Given the description of an element on the screen output the (x, y) to click on. 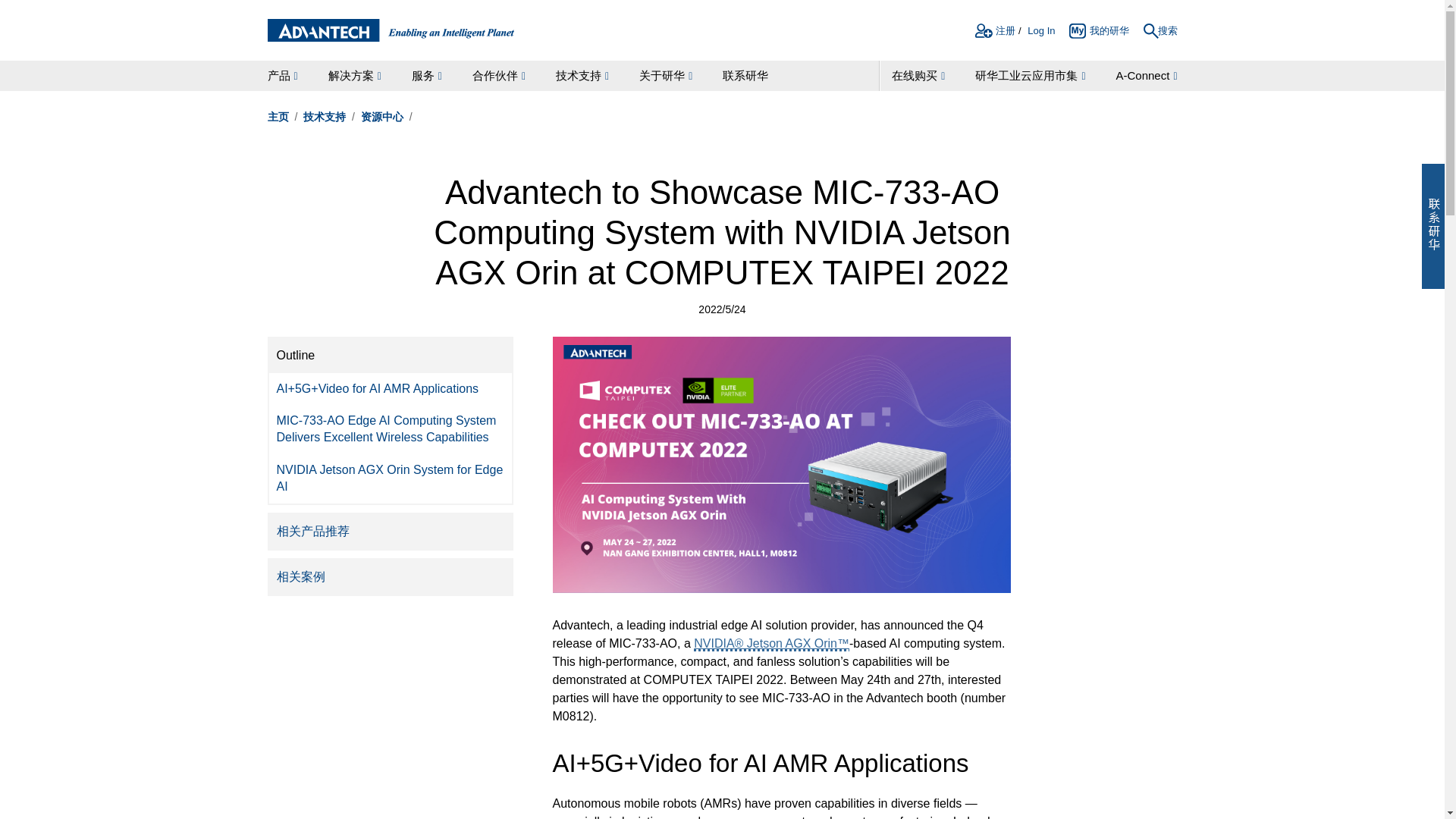
Advantech Homepage (389, 29)
Log In (1040, 32)
